Given the description of an element on the screen output the (x, y) to click on. 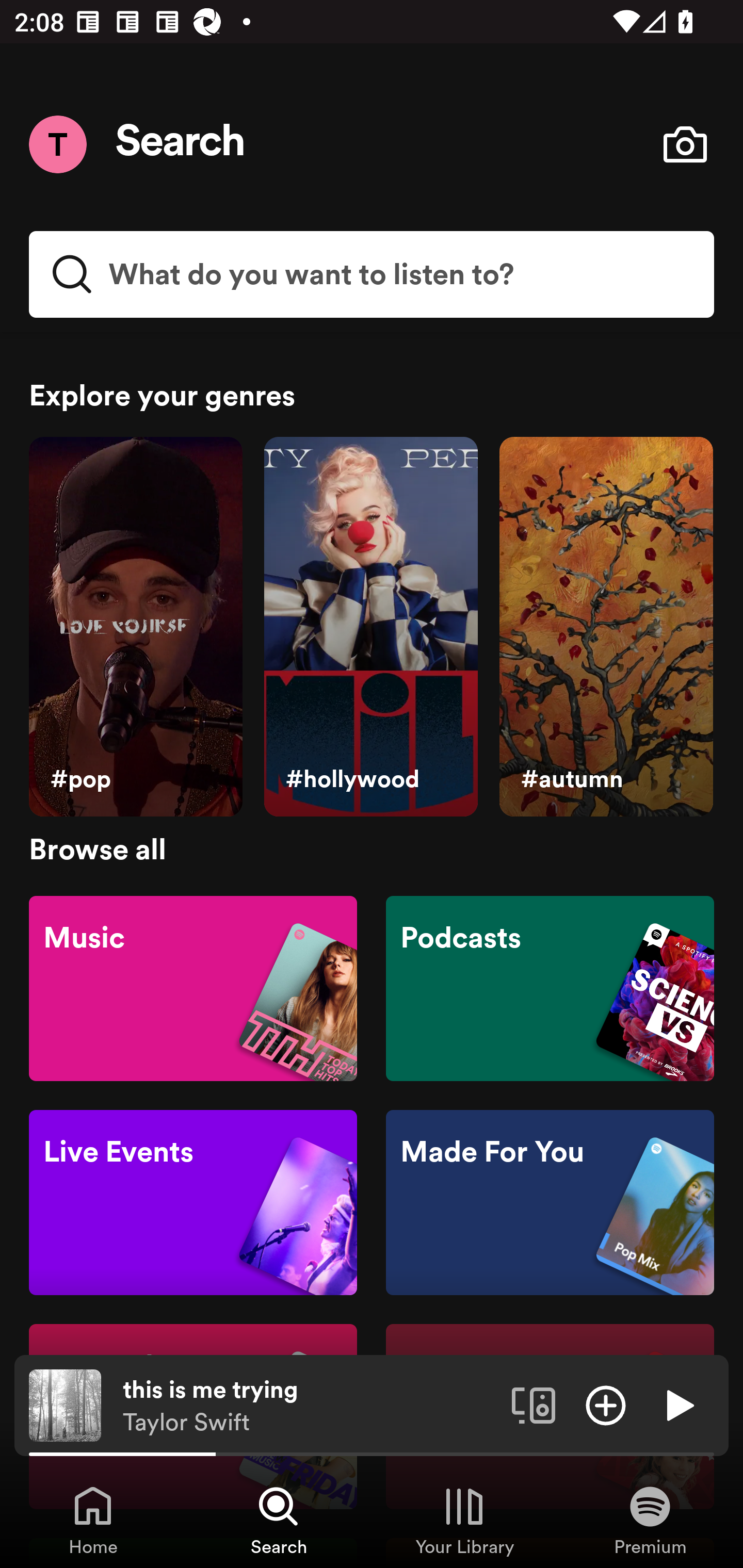
Menu (57, 144)
Open camera (685, 145)
Search (180, 144)
#pop (135, 626)
#hollywood (370, 626)
#autumn (606, 626)
Music (192, 987)
Podcasts (549, 987)
Live Events (192, 1202)
Made For You (549, 1202)
this is me trying Taylor Swift (309, 1405)
The cover art of the currently playing track (64, 1404)
Connect to a device. Opens the devices menu (533, 1404)
Add item (605, 1404)
Play (677, 1404)
Home, Tab 1 of 4 Home Home (92, 1519)
Search, Tab 2 of 4 Search Search (278, 1519)
Your Library, Tab 3 of 4 Your Library Your Library (464, 1519)
